Given the description of an element on the screen output the (x, y) to click on. 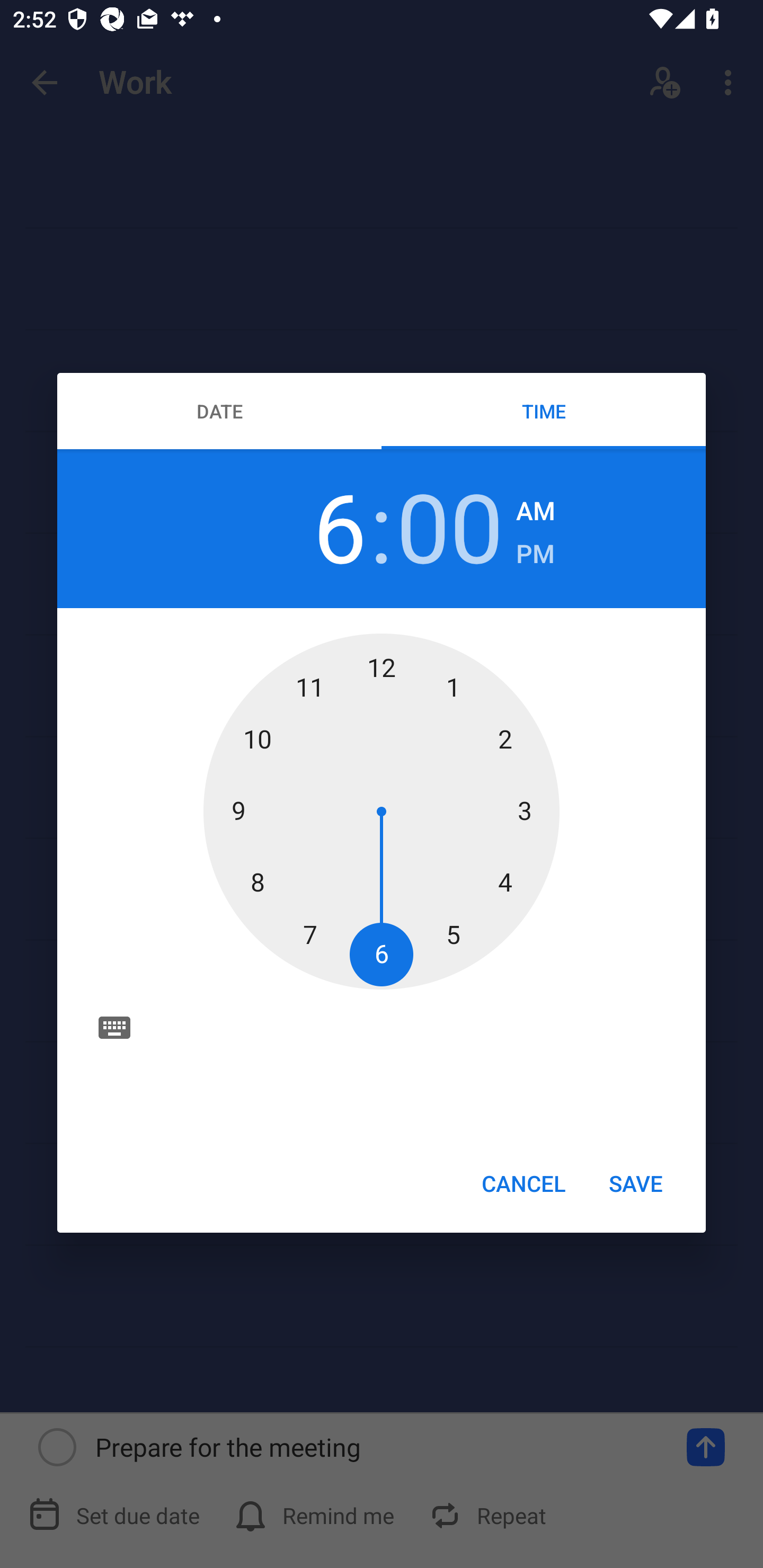
PM (534, 553)
